Given the description of an element on the screen output the (x, y) to click on. 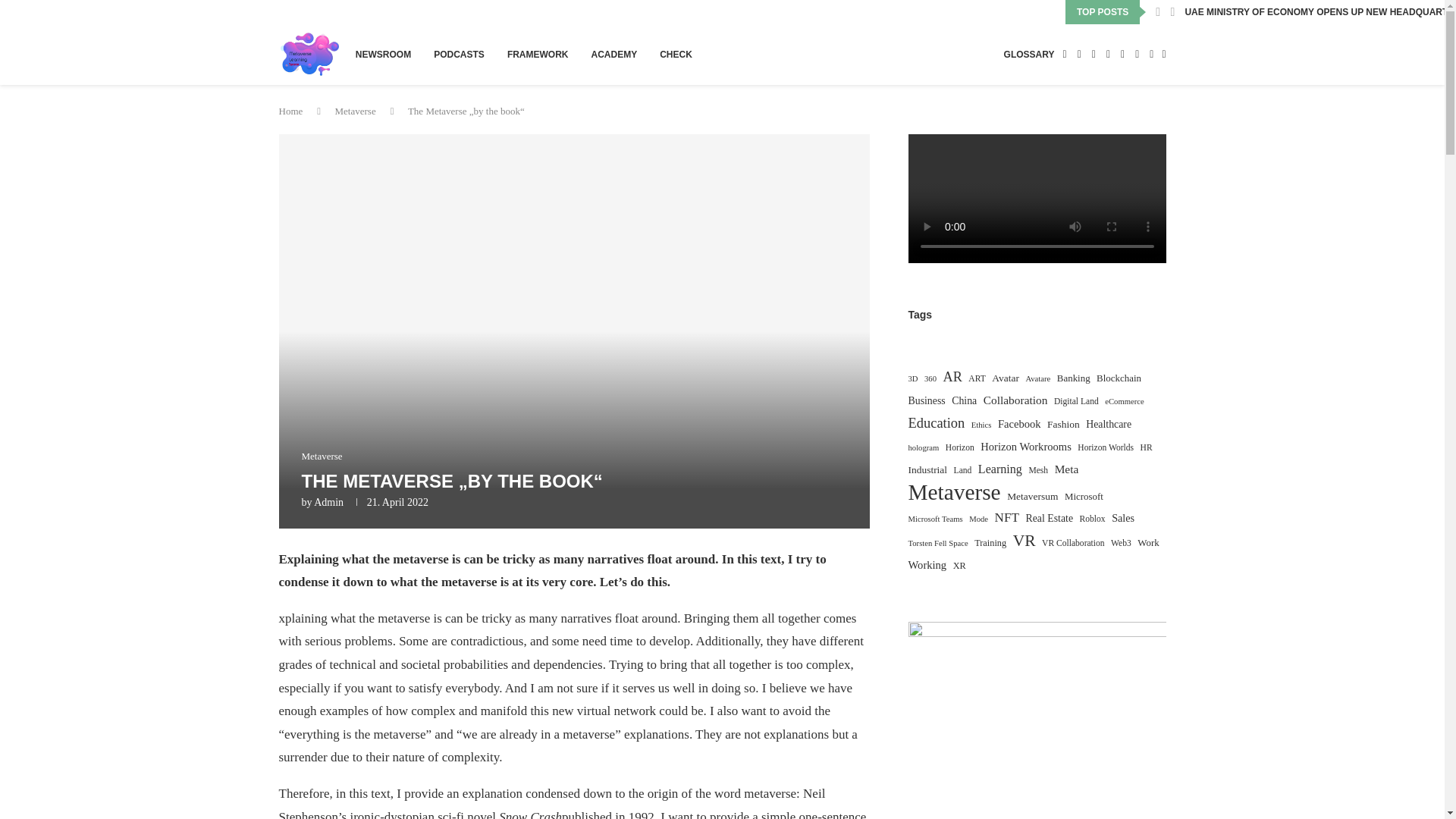
FRAMEWORK (537, 54)
PODCASTS (458, 54)
NEWSROOM (382, 54)
GLOSSARY (1029, 54)
ACADEMY (614, 54)
